Given the description of an element on the screen output the (x, y) to click on. 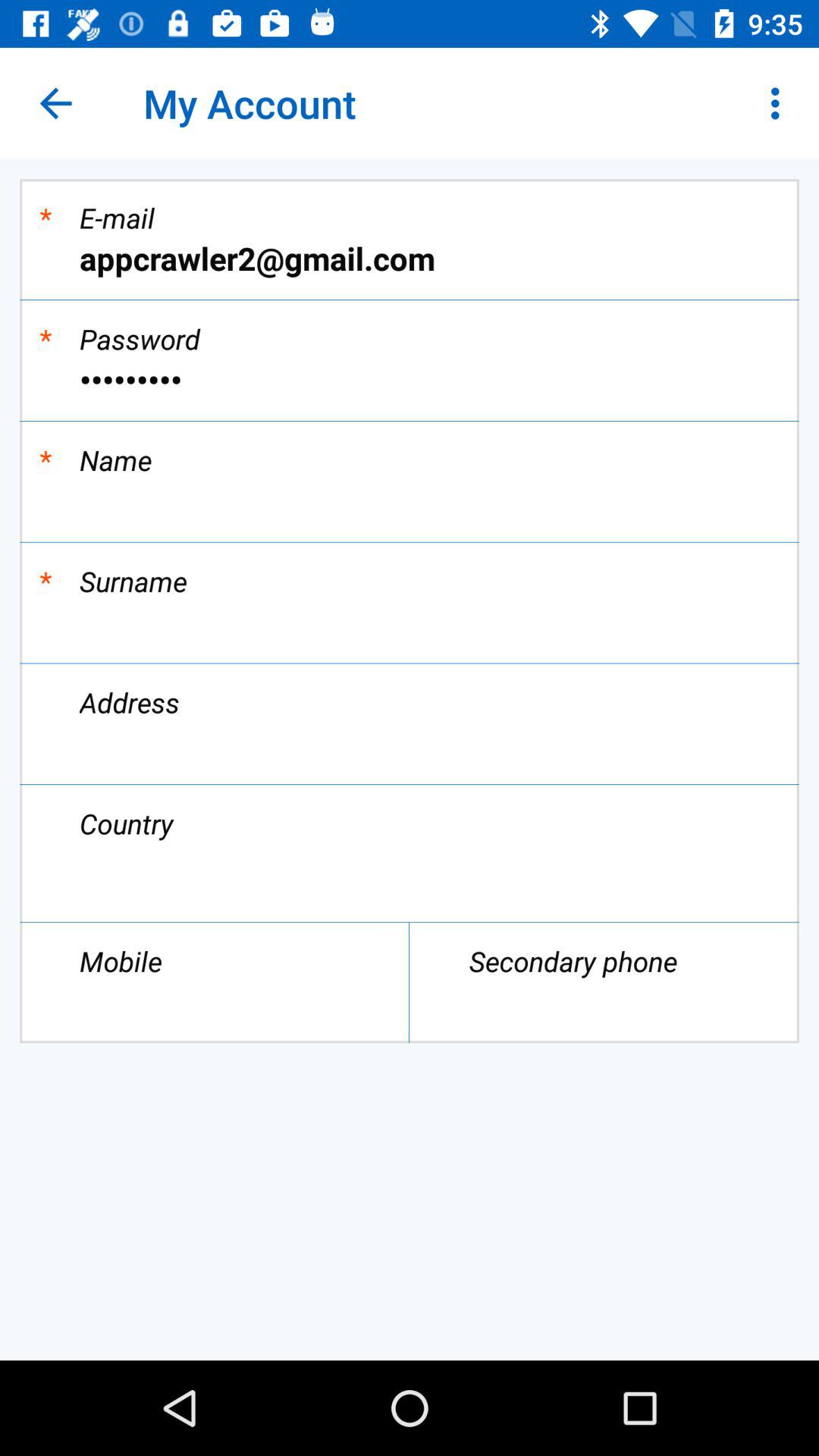
type your surname (409, 621)
